Given the description of an element on the screen output the (x, y) to click on. 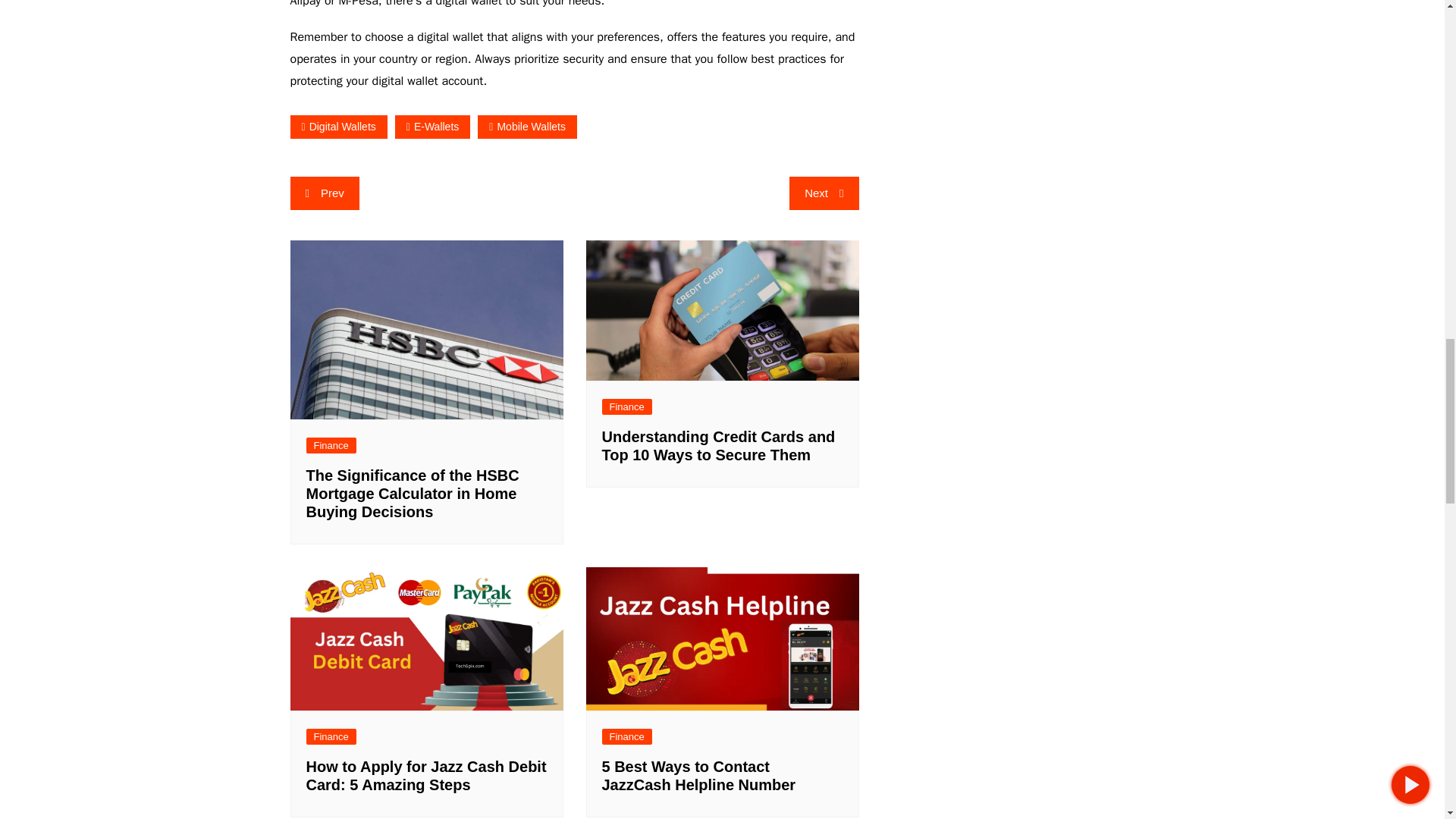
Digital Wallets (338, 126)
Finance (330, 445)
Finance (627, 406)
Mobile Wallets (526, 126)
E-Wallets (432, 126)
Next (824, 192)
Understanding Credit Cards and Top 10 Ways to Secure Them (718, 445)
How to Apply for Jazz Cash Debit Card: 5 Amazing Steps (426, 775)
Prev (323, 192)
5 Best Ways to Contact JazzCash Helpline Number (699, 775)
Finance (627, 736)
Finance (330, 736)
